Given the description of an element on the screen output the (x, y) to click on. 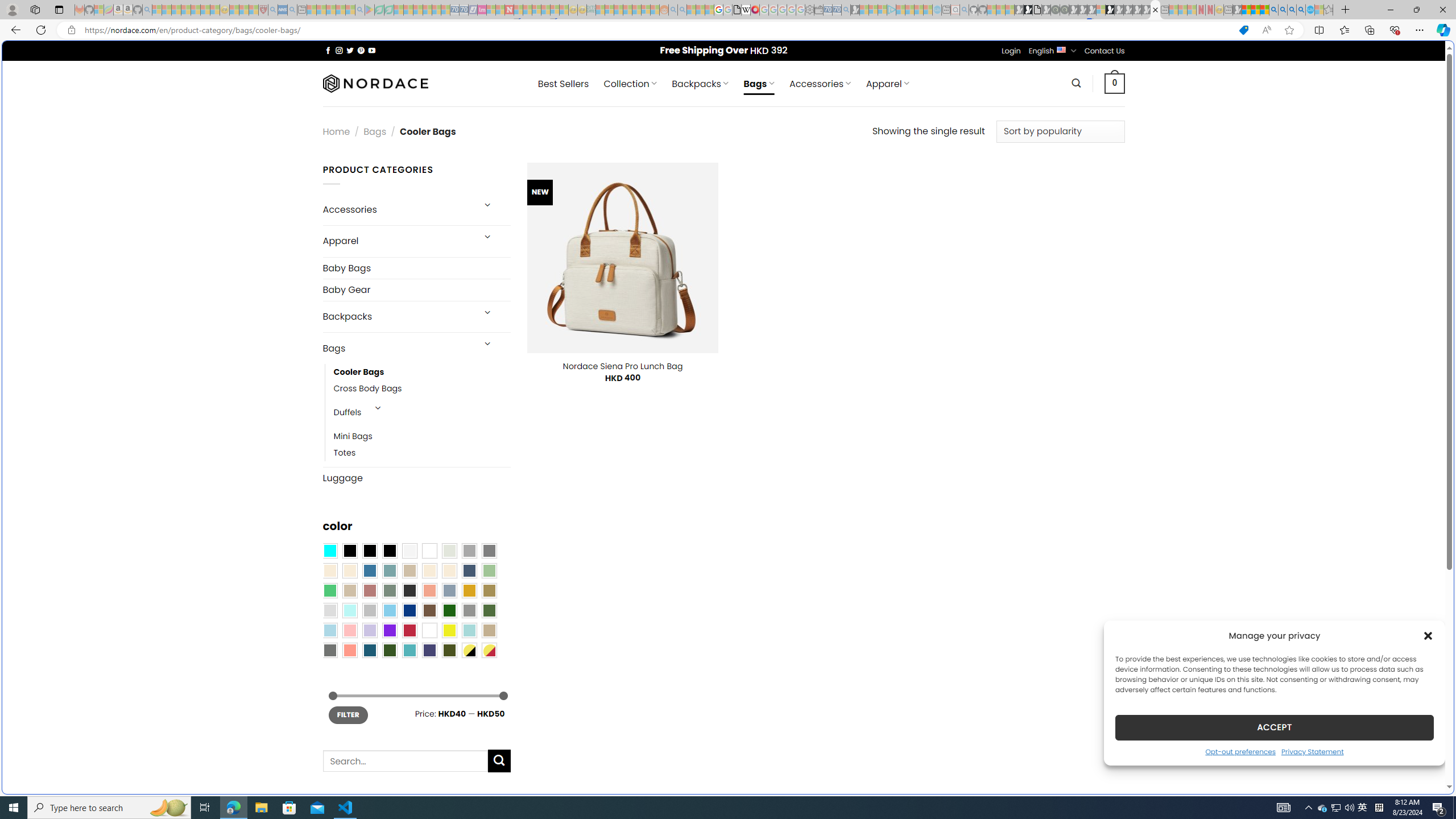
Opt-out preferences (1240, 750)
  0   (1115, 83)
Luggage (416, 477)
Coral (429, 590)
Brownie (408, 570)
